Given the description of an element on the screen output the (x, y) to click on. 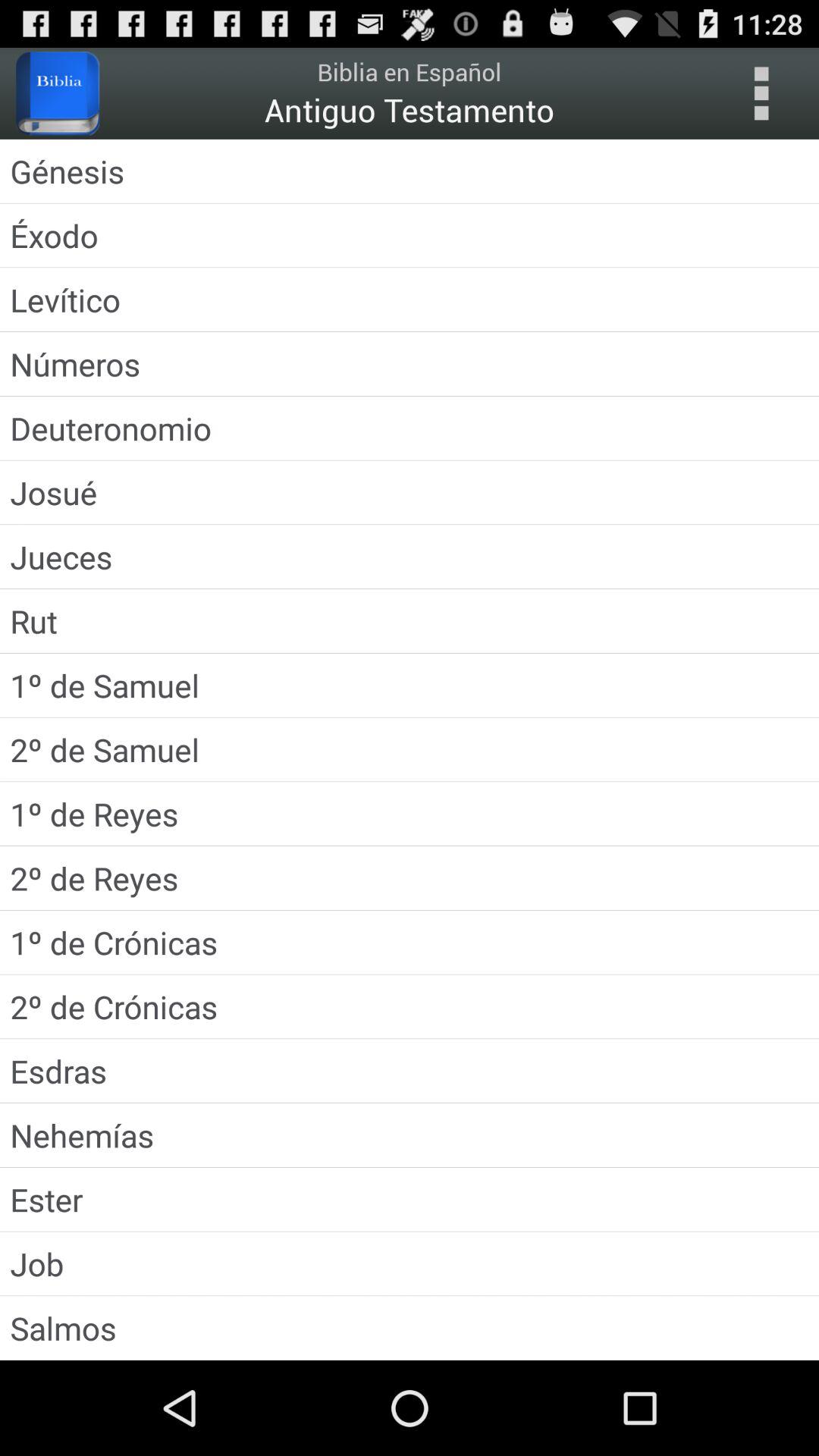
jump to job (409, 1263)
